Given the description of an element on the screen output the (x, y) to click on. 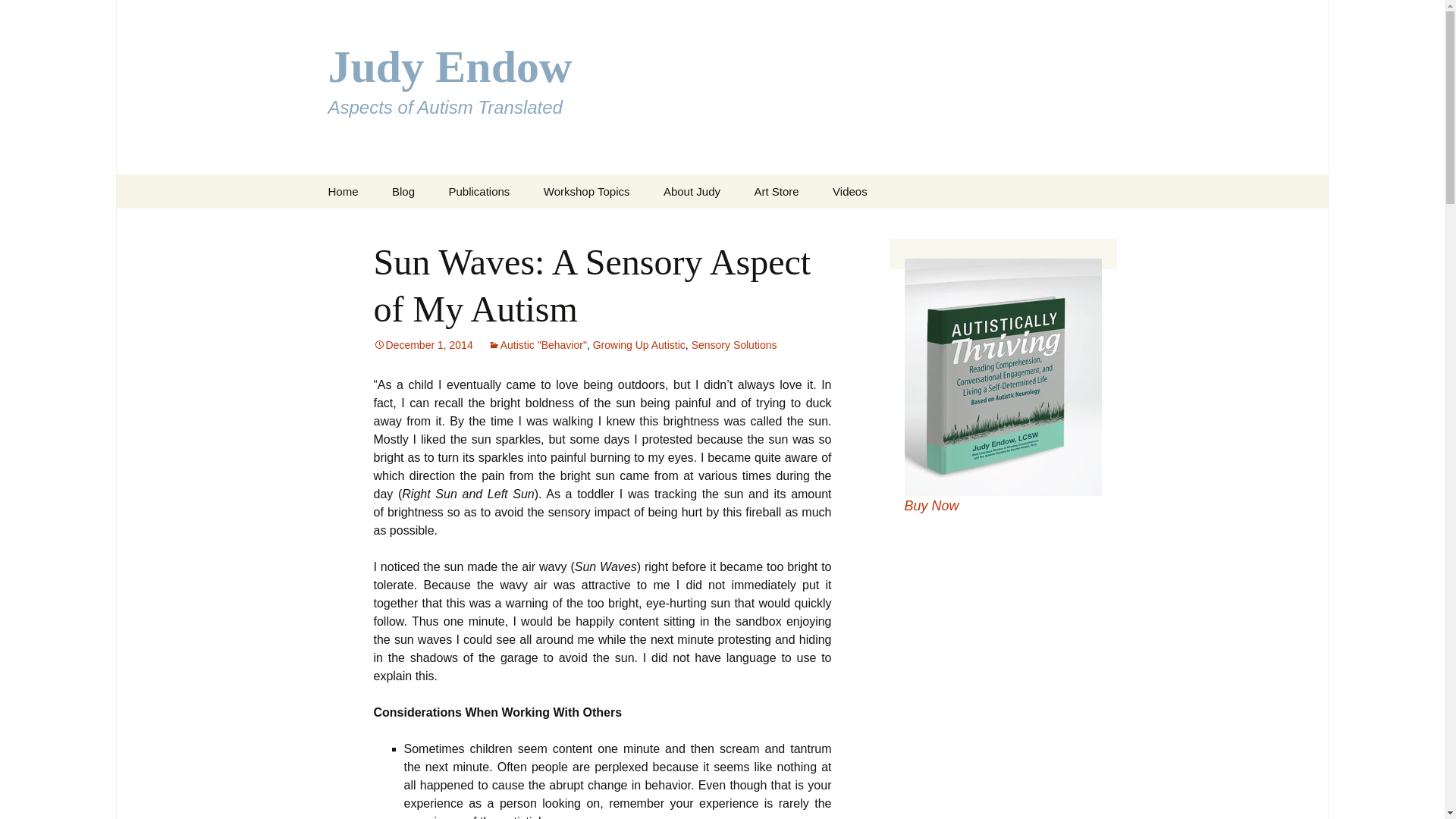
Permalink to Sun Waves: A Sensory Aspect of My Autism (421, 345)
Workshop Topics (586, 191)
About Judy (691, 191)
Videos (849, 191)
Sensory Solutions (734, 345)
Publications (478, 191)
Art Store (775, 191)
Autistic "Behavior" (536, 345)
Blog List (452, 225)
